Given the description of an element on the screen output the (x, y) to click on. 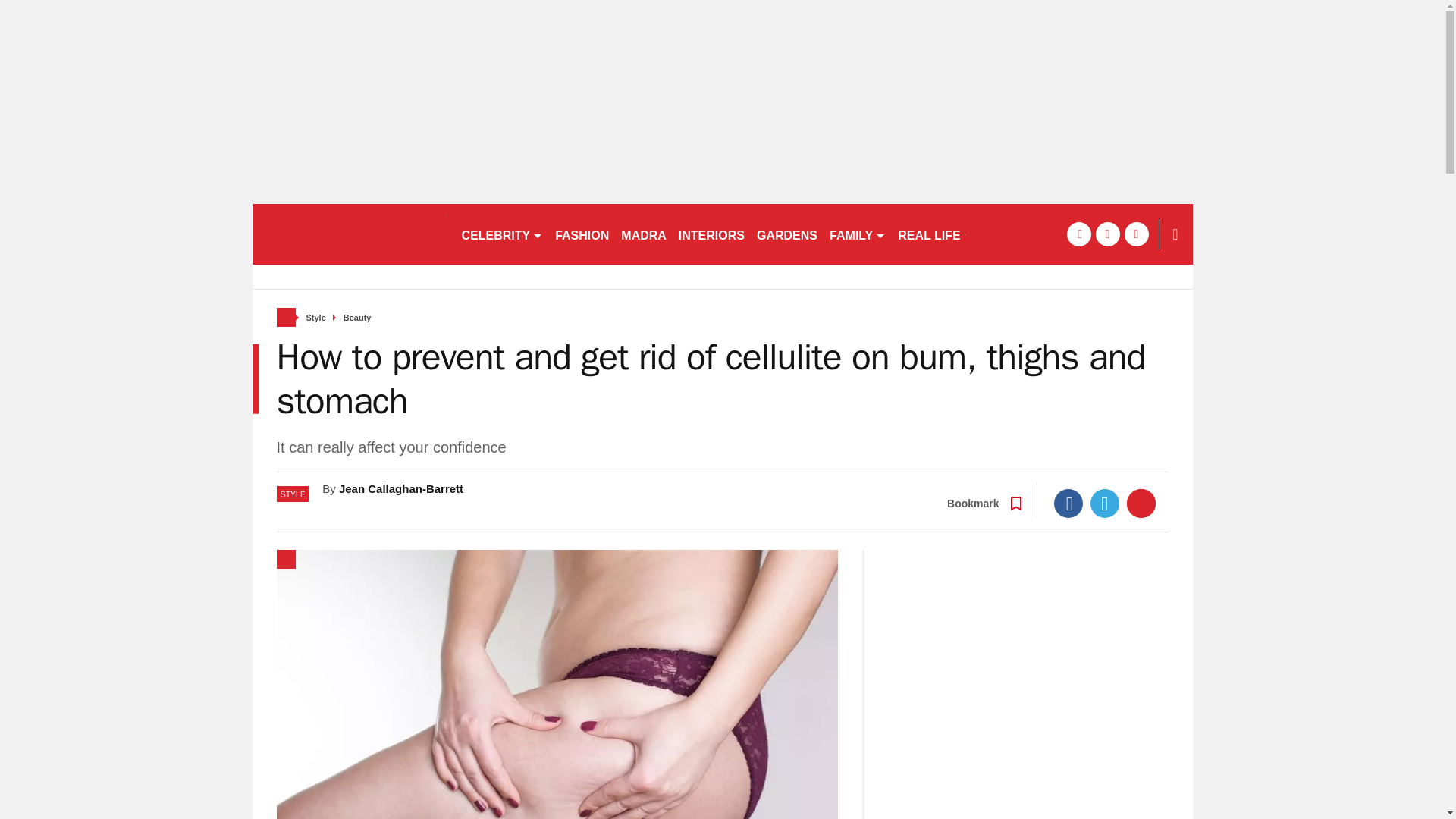
INTERIORS (711, 233)
facebook (1077, 233)
FAMILY (857, 233)
instagram (1136, 233)
FASHION (581, 233)
CELEBRITY (501, 233)
GARDENS (787, 233)
rsvp (348, 233)
Twitter (1104, 502)
twitter (1106, 233)
